Given the description of an element on the screen output the (x, y) to click on. 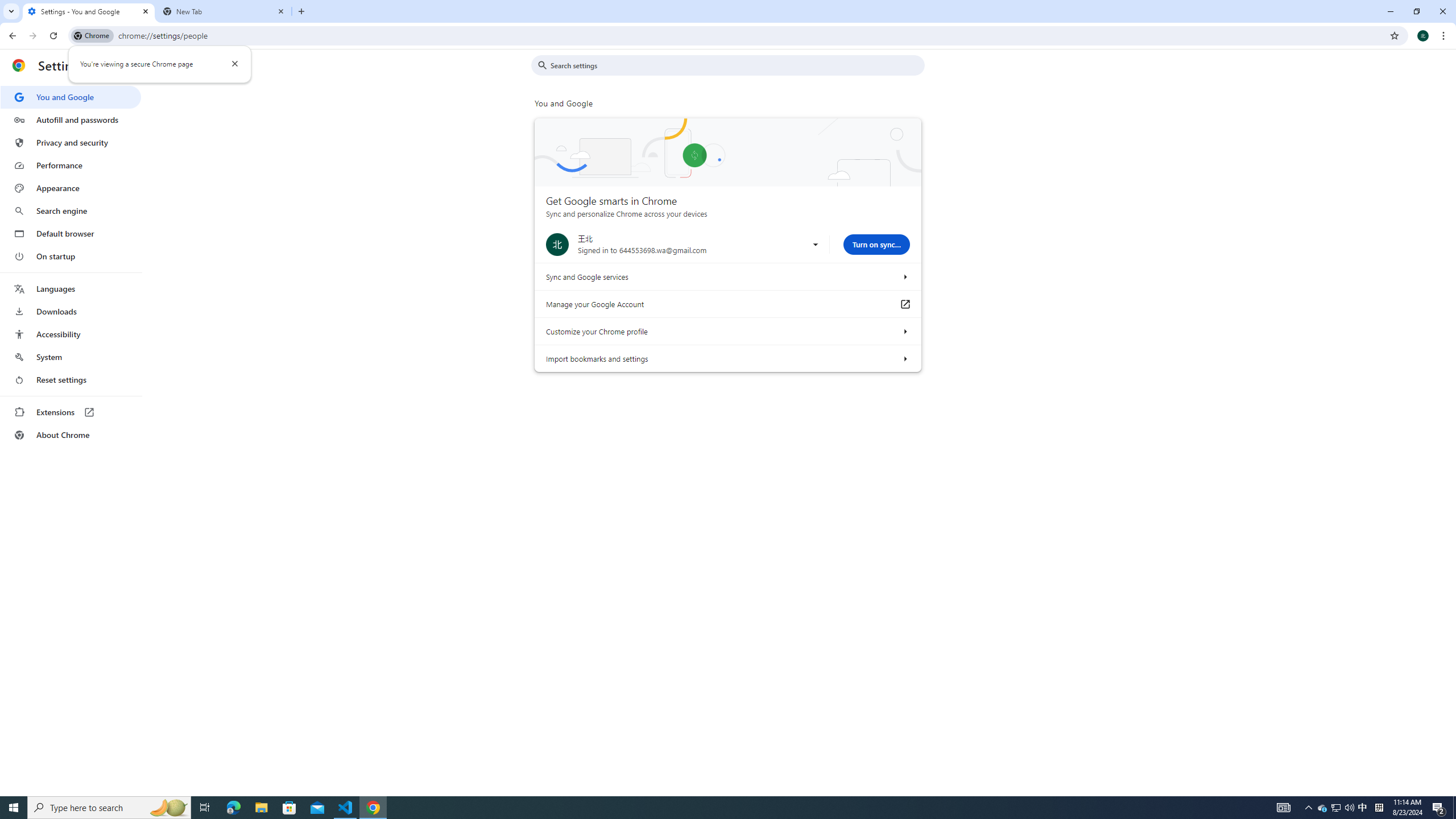
Show desktop (1454, 807)
Customize your Chrome profile (904, 330)
File Explorer (261, 807)
About Chrome (70, 434)
Performance (70, 164)
Microsoft Edge (233, 807)
New Tab (224, 11)
